Given the description of an element on the screen output the (x, y) to click on. 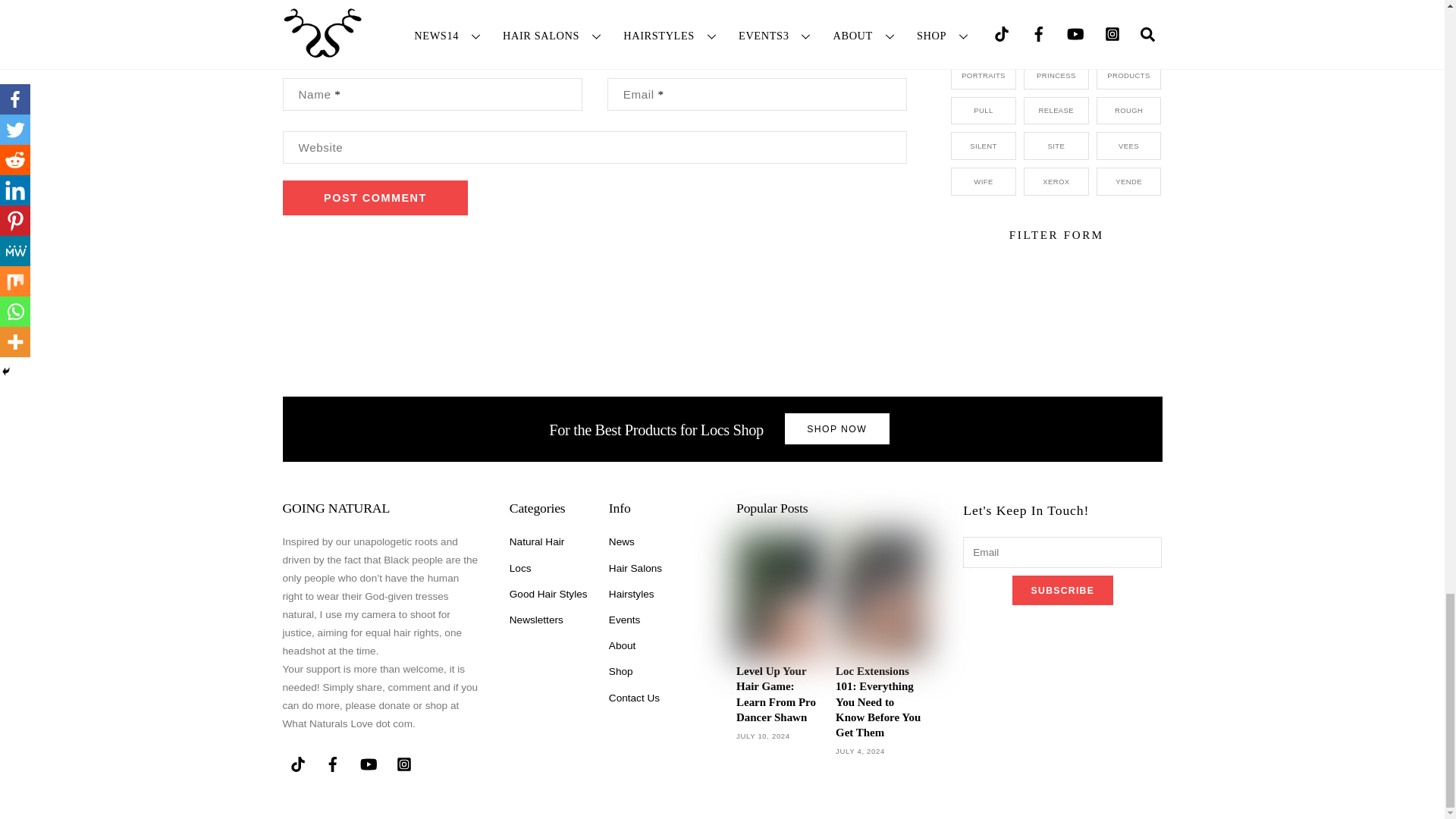
Post Comment (374, 197)
